Given the description of an element on the screen output the (x, y) to click on. 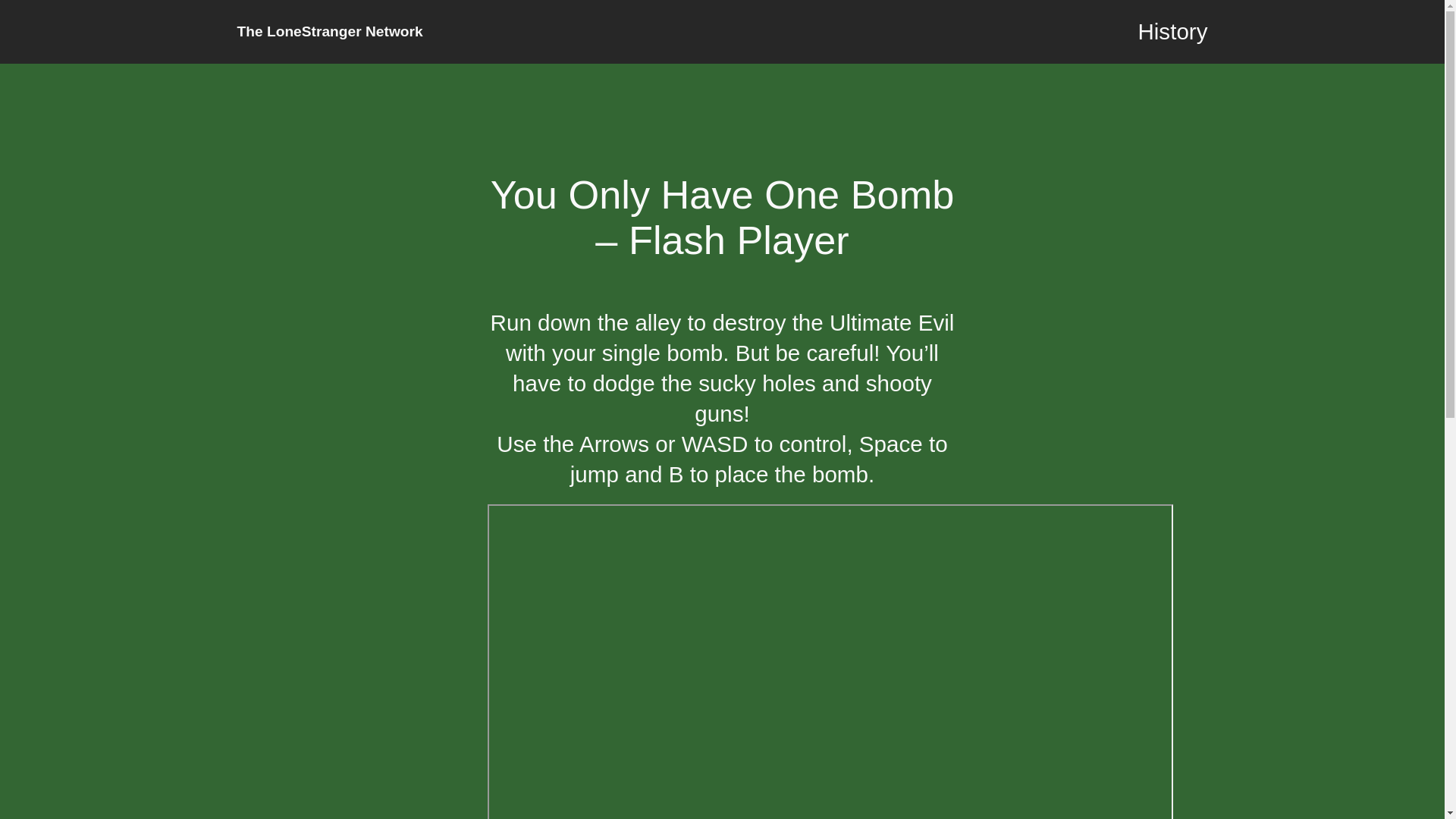
The LoneStranger Network (328, 31)
History (1172, 31)
